Given the description of an element on the screen output the (x, y) to click on. 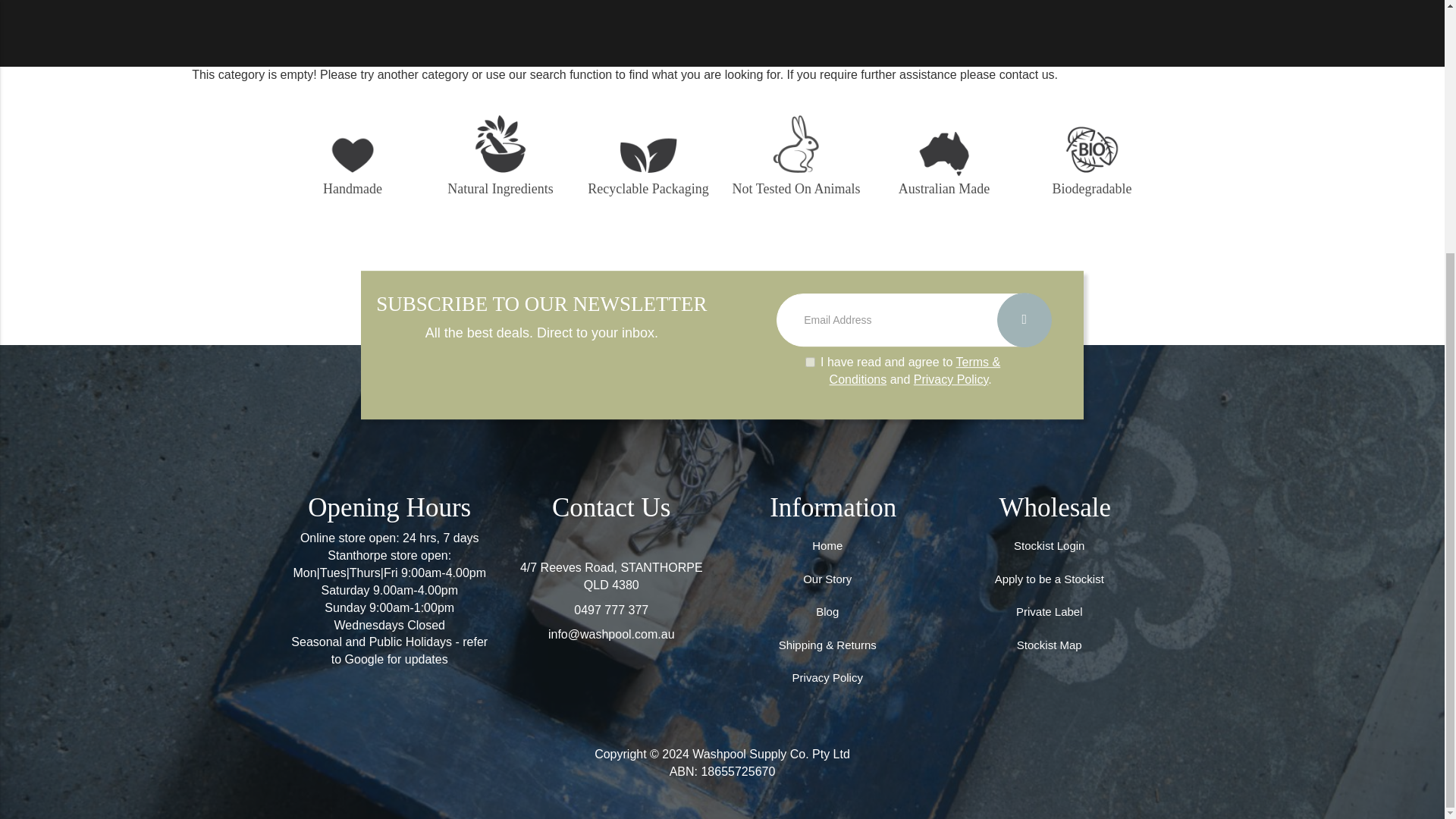
y (810, 361)
